Given the description of an element on the screen output the (x, y) to click on. 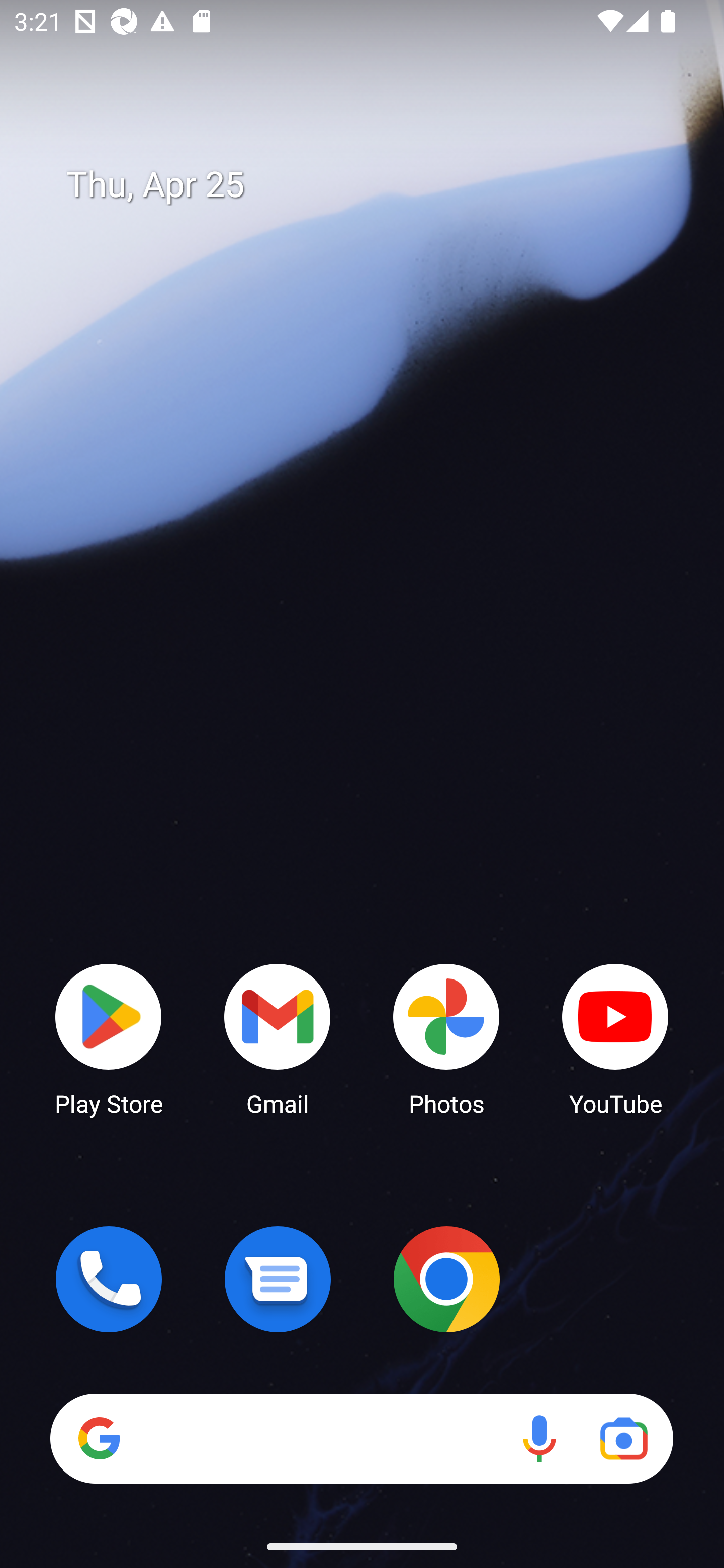
Thu, Apr 25 (375, 184)
Play Store (108, 1038)
Gmail (277, 1038)
Photos (445, 1038)
YouTube (615, 1038)
Phone (108, 1279)
Messages (277, 1279)
Chrome (446, 1279)
Search Voice search Google Lens (361, 1438)
Voice search (539, 1438)
Google Lens (623, 1438)
